Given the description of an element on the screen output the (x, y) to click on. 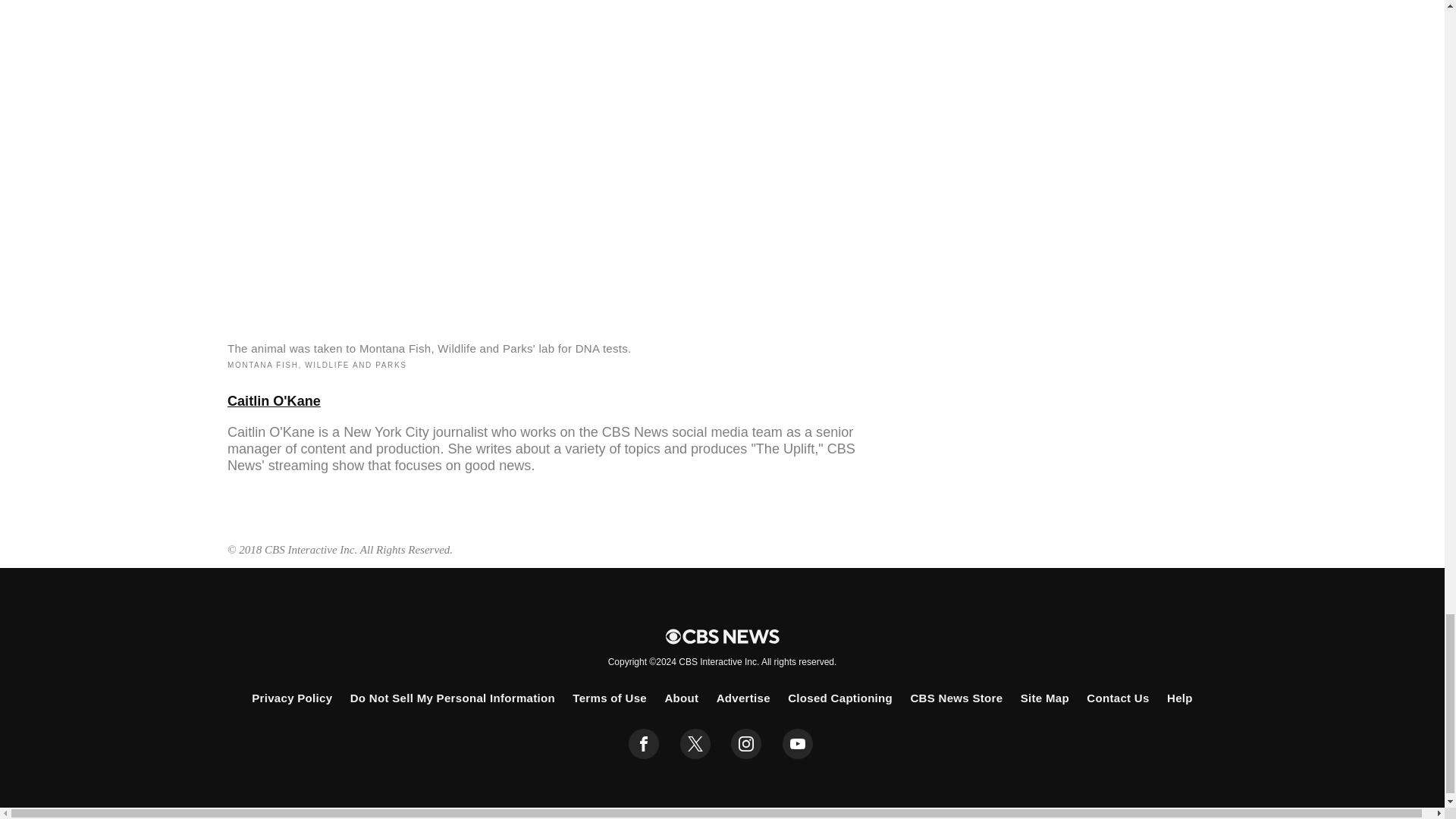
instagram (745, 743)
twitter (694, 743)
facebook (643, 743)
youtube (797, 743)
